Given the description of an element on the screen output the (x, y) to click on. 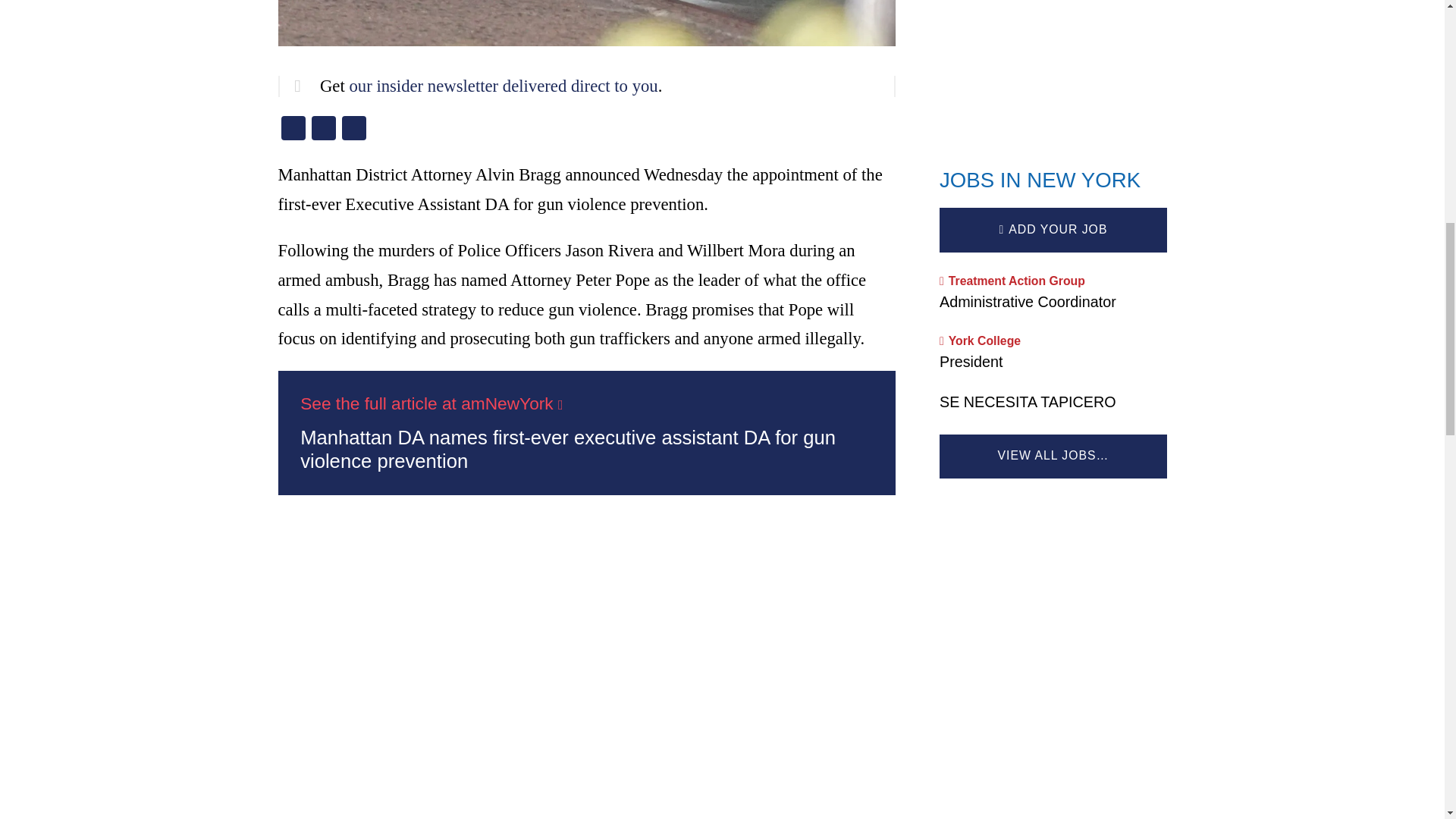
Twitter (322, 130)
Facebook (292, 130)
